Given the description of an element on the screen output the (x, y) to click on. 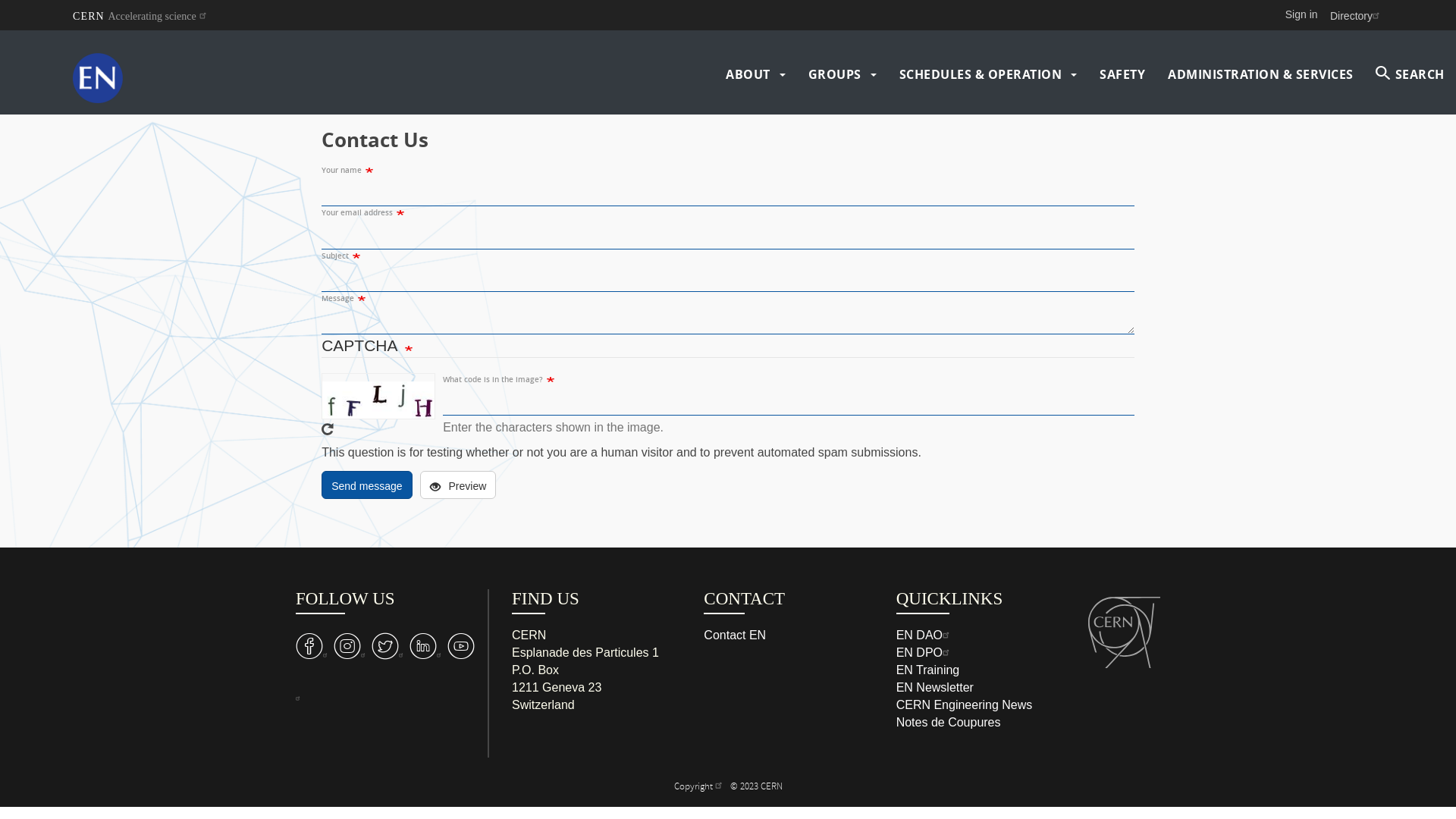
M(link is external) Element type: text (428, 646)
SCHEDULES & OPERATION Element type: text (980, 74)
Get new captcha! Element type: text (327, 429)
EN Training Element type: text (928, 669)
Copyright (link is external) Element type: text (698, 787)
GROUPS Element type: text (834, 74)
ADMINISTRATION & SERVICES Element type: text (1260, 74)
1(link is external) Element type: text (384, 667)
Contact EN Element type: text (734, 634)
Skip to main content Element type: text (0, 30)
EN DPO(link is external) Element type: text (924, 652)
EN DAO(link is external) Element type: text (924, 634)
Notes de Coupures Element type: text (948, 721)
ABOUT Element type: text (747, 74)
Home Element type: hover (123, 74)
EN Newsletter Element type: text (934, 686)
J(link is external) Element type: text (352, 646)
Image CAPTCHA Element type: hover (378, 396)
SAFETY Element type: text (1122, 74)
CERN Element type: hover (1124, 628)
SEARCH Element type: text (1410, 74)
Directory(link is external) Element type: text (1356, 14)
Preview Element type: text (458, 484)
CERN Accelerating science (link is external) Element type: text (141, 15)
Sign in Element type: text (1301, 14)
W(link is external) Element type: text (390, 646)
Send message Element type: text (366, 484)
CERN Engineering News Element type: text (964, 704)
v(link is external) Element type: text (314, 646)
